Given the description of an element on the screen output the (x, y) to click on. 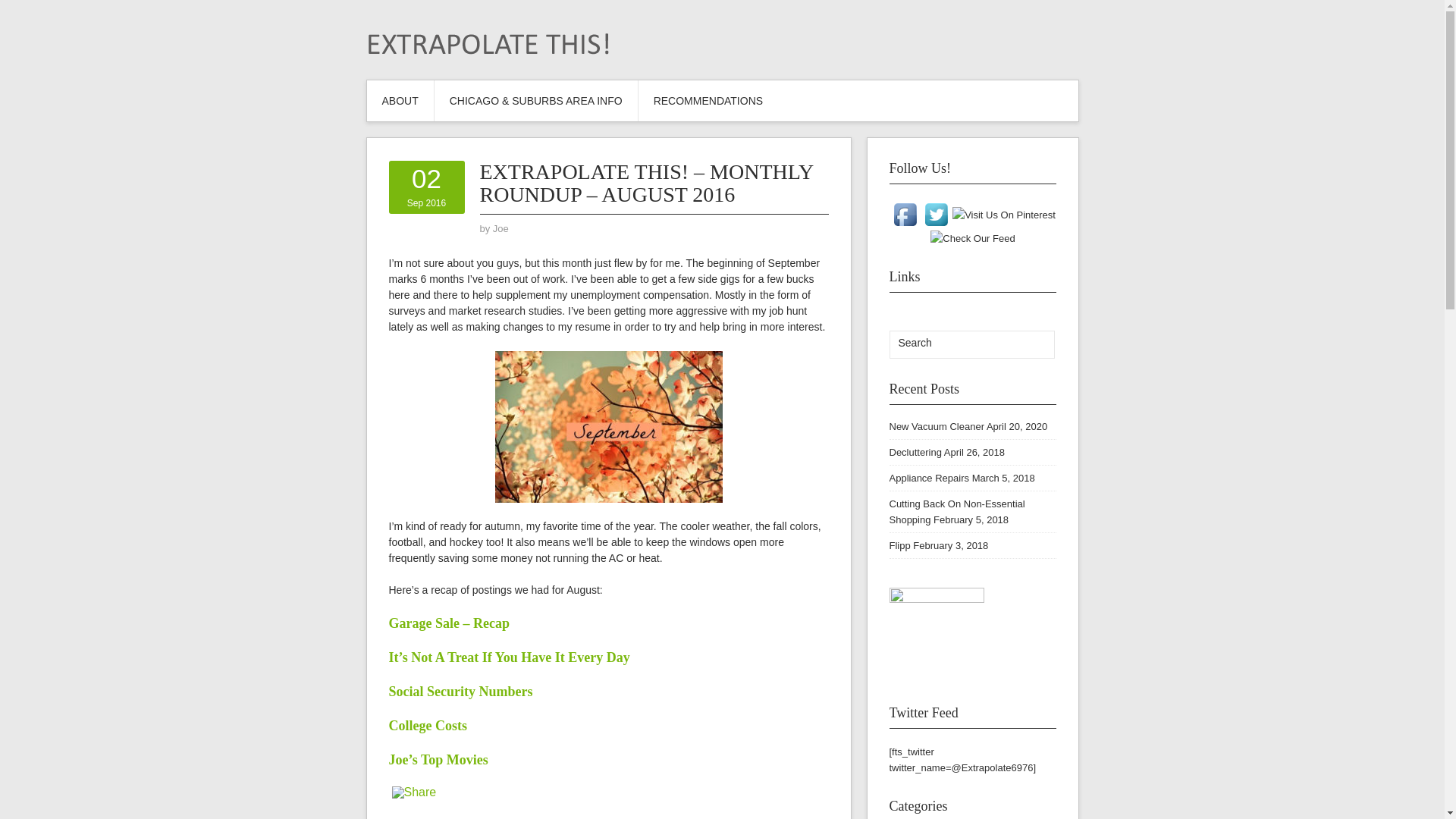
RECOMMENDATIONS (708, 100)
Search (1032, 344)
Visit Us On Twitter (936, 213)
Search (954, 342)
Visit Us On Facebook (904, 213)
Joe (500, 228)
College Costs (426, 725)
Cutting Back On Non-Essential Shopping (956, 511)
Appliance Repairs (426, 187)
Search (928, 478)
Flipp (1032, 344)
Check Our Feed (899, 545)
Decluttering (972, 237)
by Joe (914, 451)
